Given the description of an element on the screen output the (x, y) to click on. 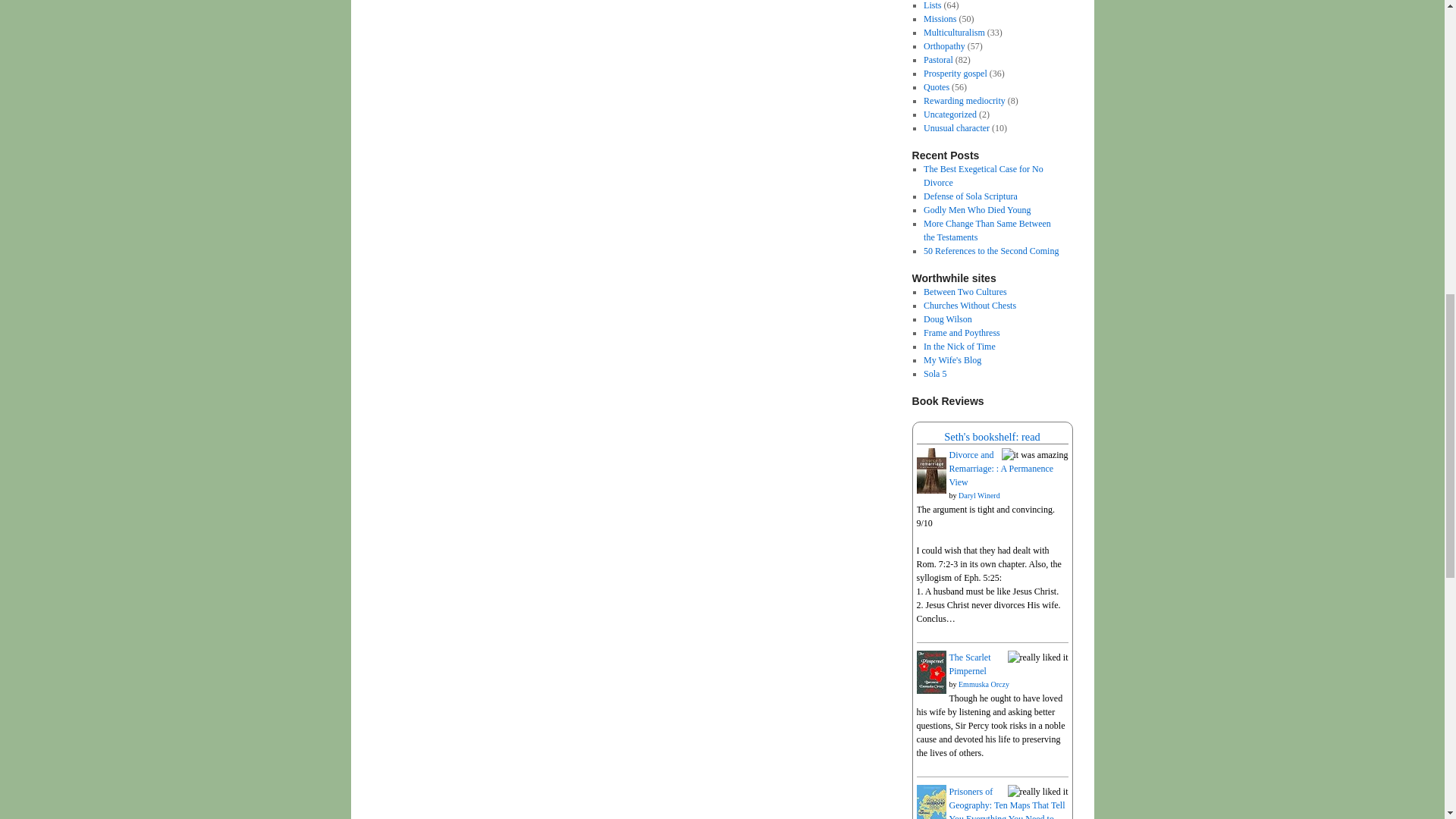
How does he post so often? (947, 318)
Family and Homeschool updates (952, 359)
Missions. Theology. Books. (965, 291)
Divorce and Remarriage: : A Permanence View (929, 491)
A lot of free articles and books (961, 332)
Aesthetic Agnosticism and the Lord of Glory (969, 305)
